Given the description of an element on the screen output the (x, y) to click on. 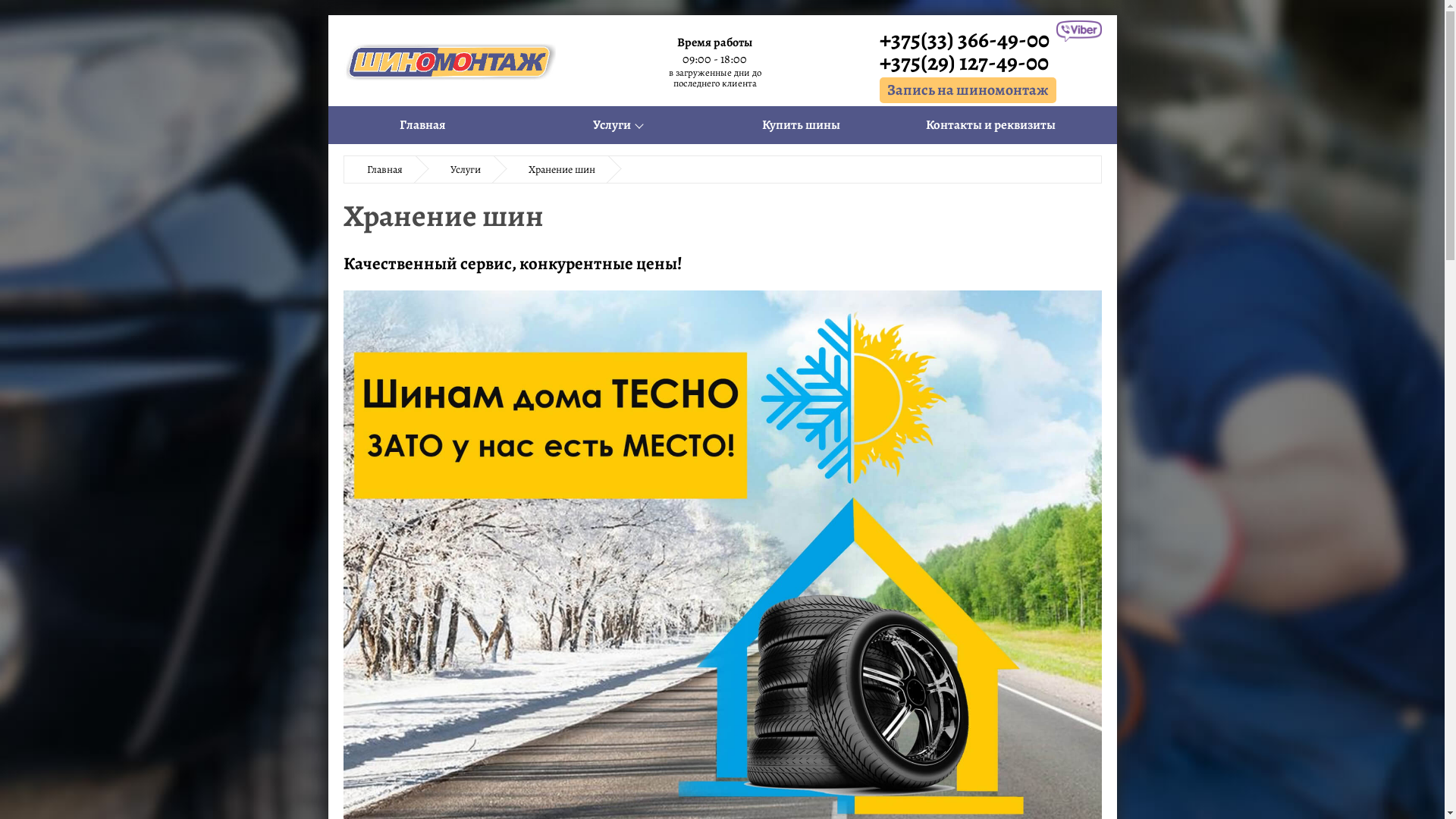
+375(33) 366-49-00 Element type: text (967, 39)
+375(29) 127-49-00 Element type: text (967, 61)
